Given the description of an element on the screen output the (x, y) to click on. 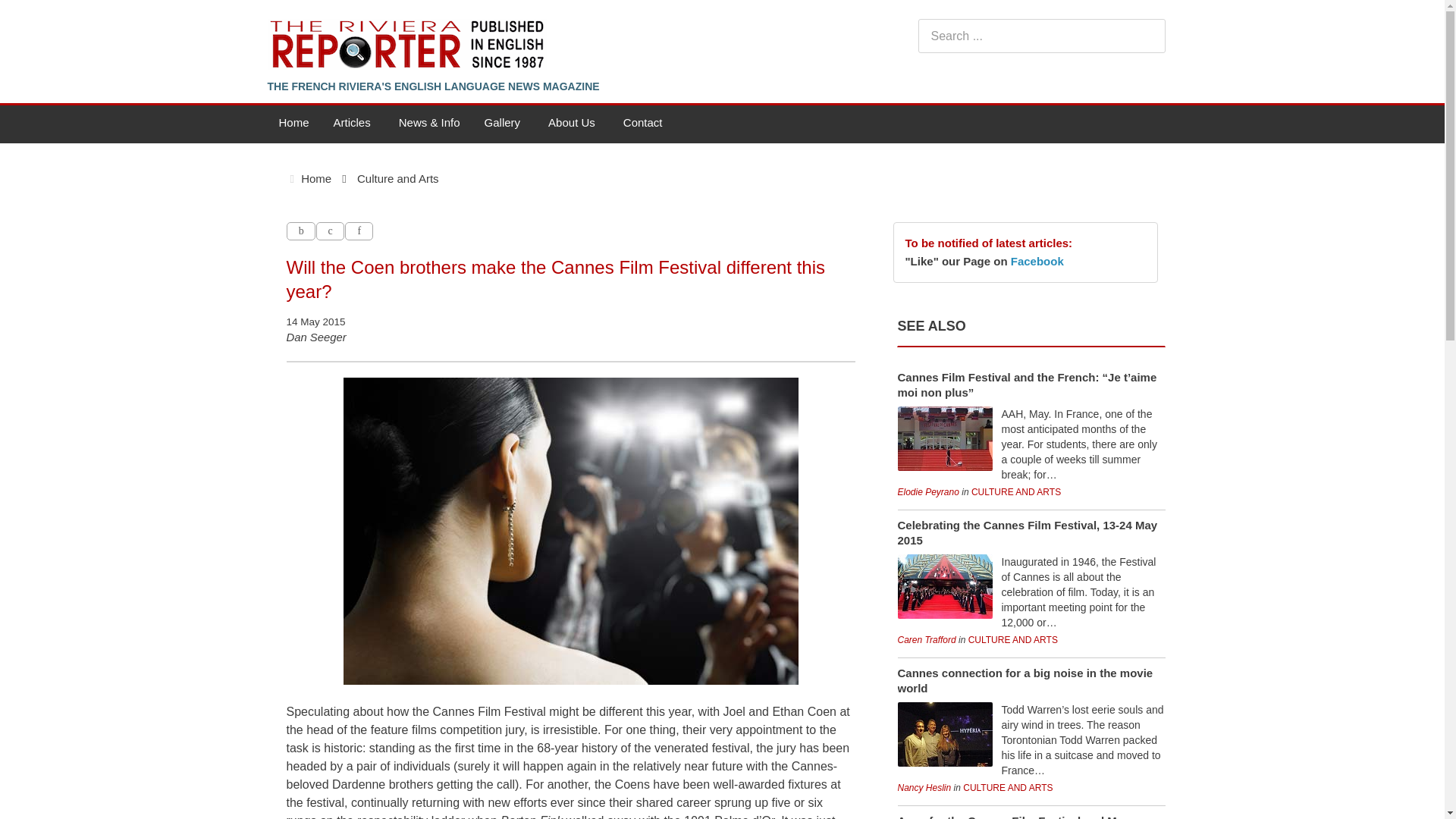
Articles (354, 124)
Home (293, 124)
Gallery (504, 124)
